Given the description of an element on the screen output the (x, y) to click on. 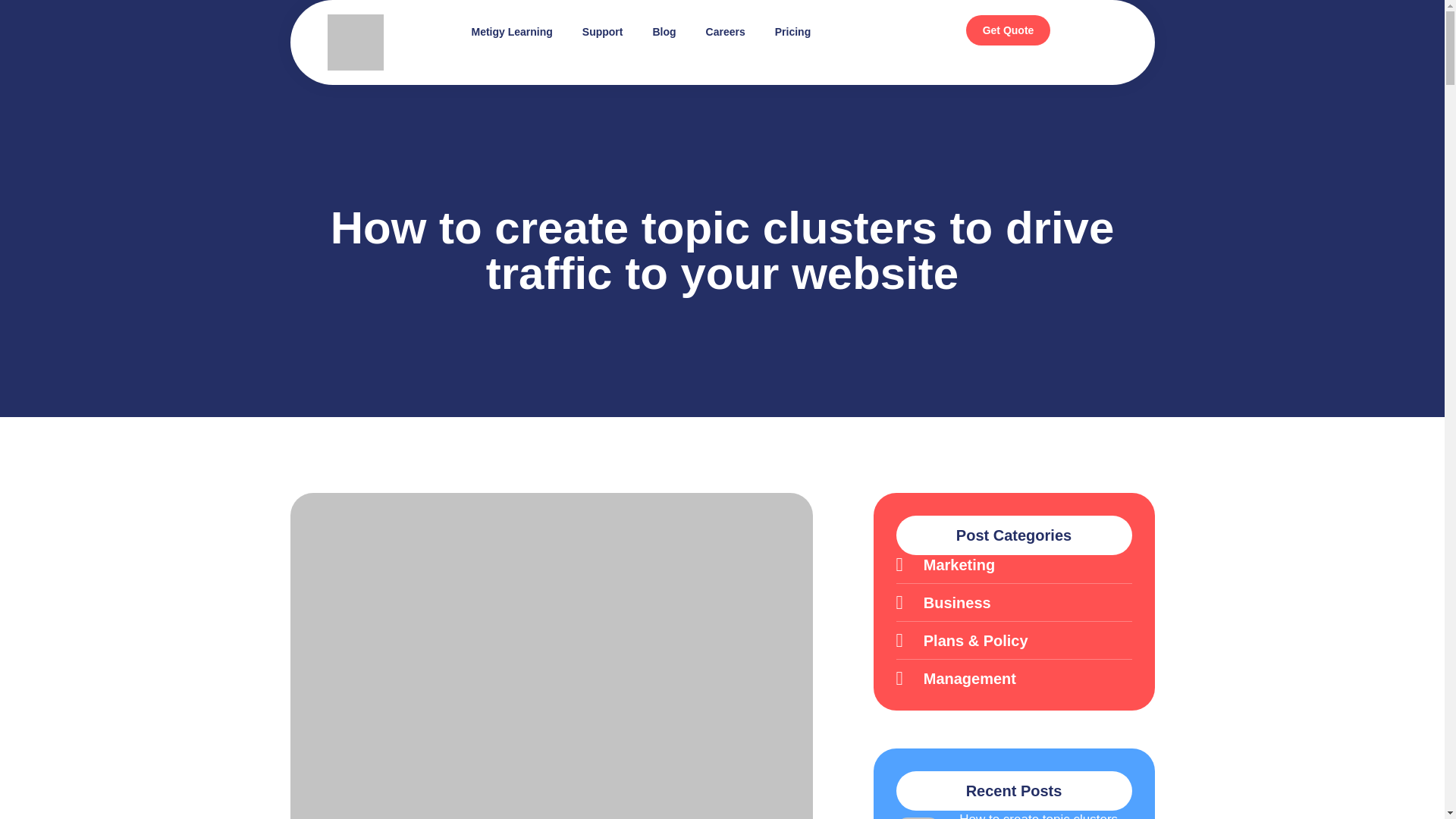
Metigy Learning (511, 31)
Pricing (792, 31)
Management (1014, 678)
Careers (725, 31)
Marketing (1014, 564)
Get Quote (1008, 30)
Blog (663, 31)
Support (602, 31)
Business (1014, 601)
